Given the description of an element on the screen output the (x, y) to click on. 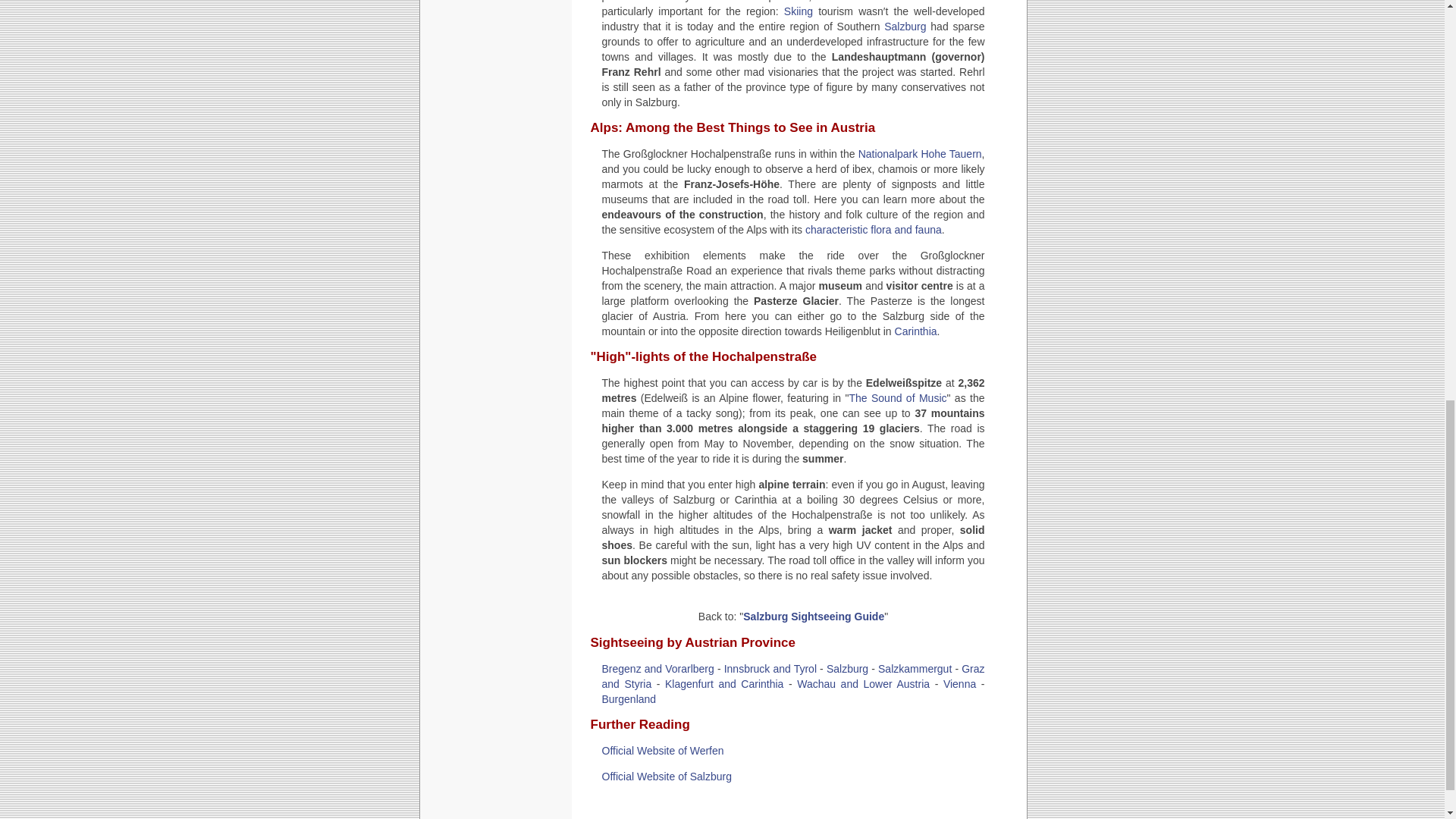
Wachau and Lower Austria (863, 684)
Salzburg (904, 26)
Bregenz and Vorarlberg (658, 668)
Burgenland (629, 698)
Vienna (959, 684)
characteristic flora and fauna (873, 229)
Official Website of Werfen (662, 750)
Skiing (798, 10)
Salzburg (847, 668)
Graz and Styria (793, 676)
